Given the description of an element on the screen output the (x, y) to click on. 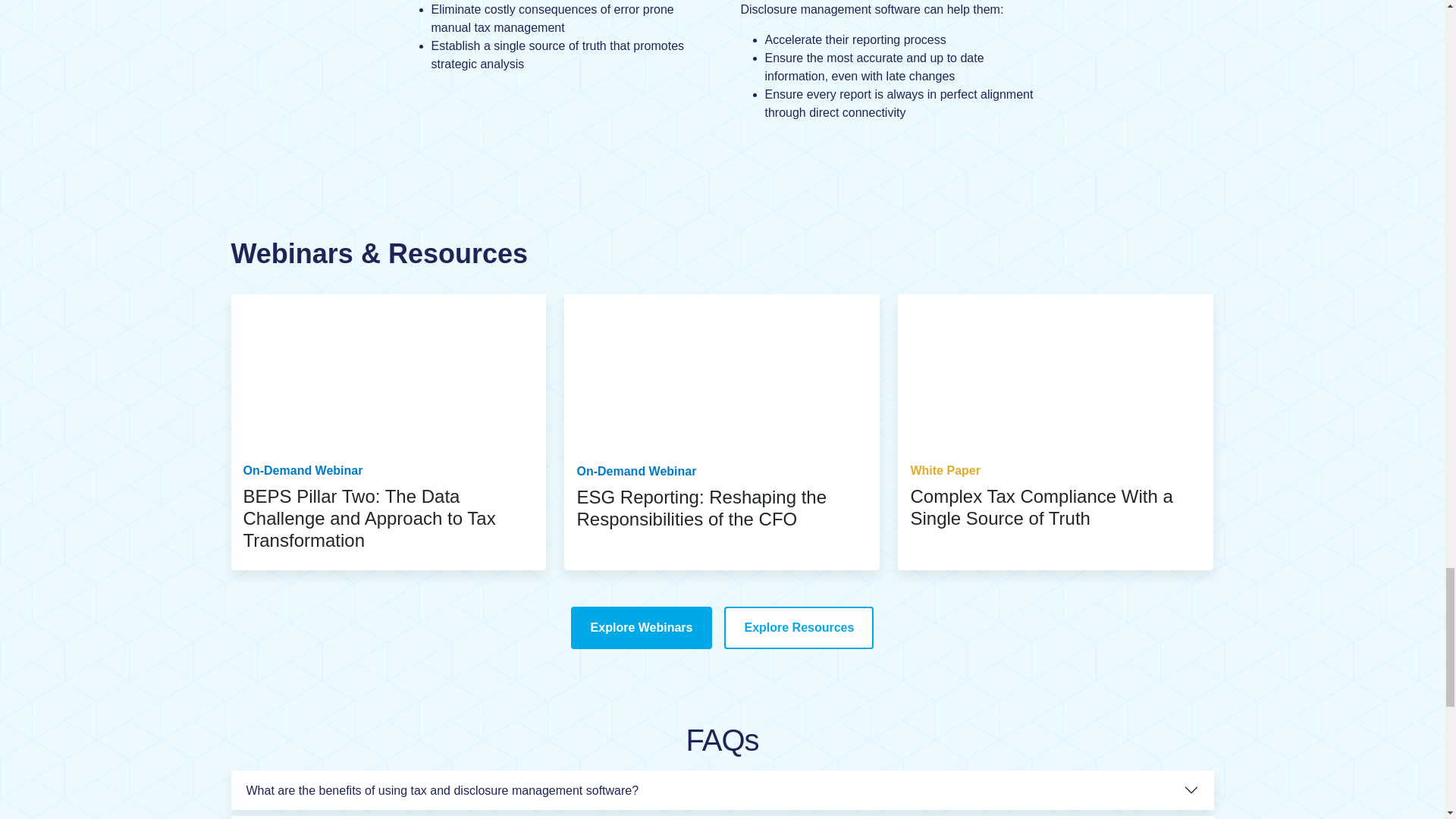
Complex Tax Compliance With a Single Source of Truth (1041, 507)
ESG Reporting: Reshaping the Responsibilities of the CFO (701, 507)
